Given the description of an element on the screen output the (x, y) to click on. 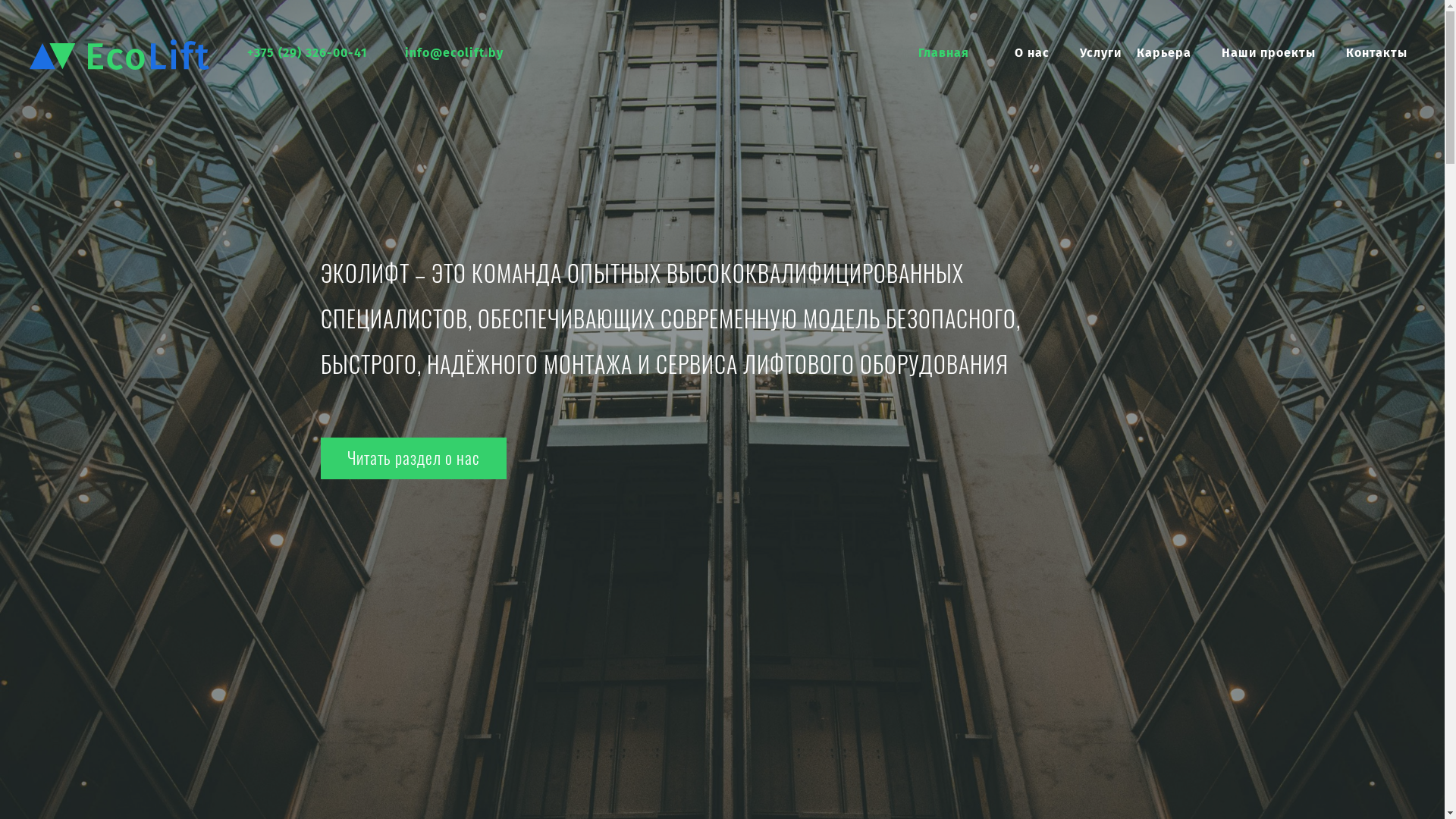
+375 (29) 326-00-41 Element type: text (307, 52)
info@ecolift.by Element type: text (453, 52)
